Given the description of an element on the screen output the (x, y) to click on. 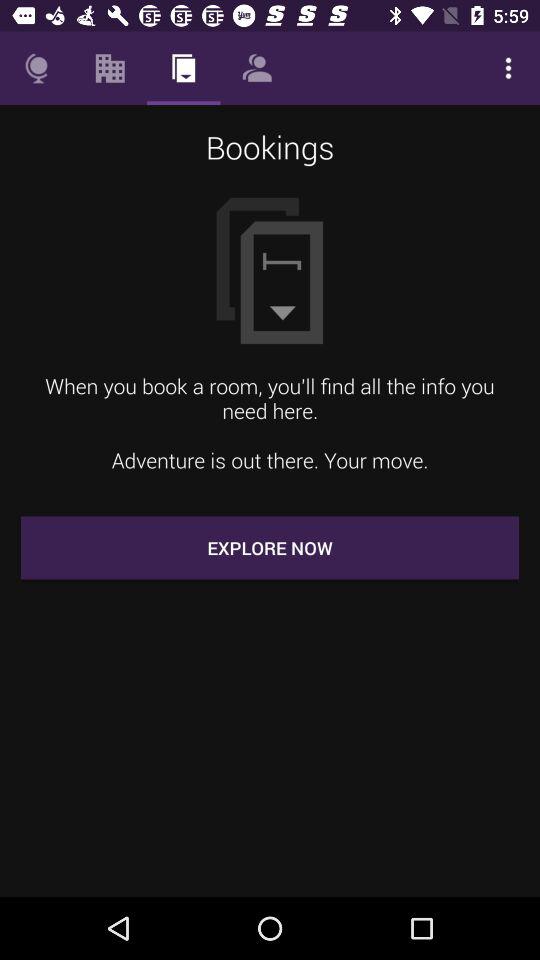
select icon above bookings icon (256, 68)
